Given the description of an element on the screen output the (x, y) to click on. 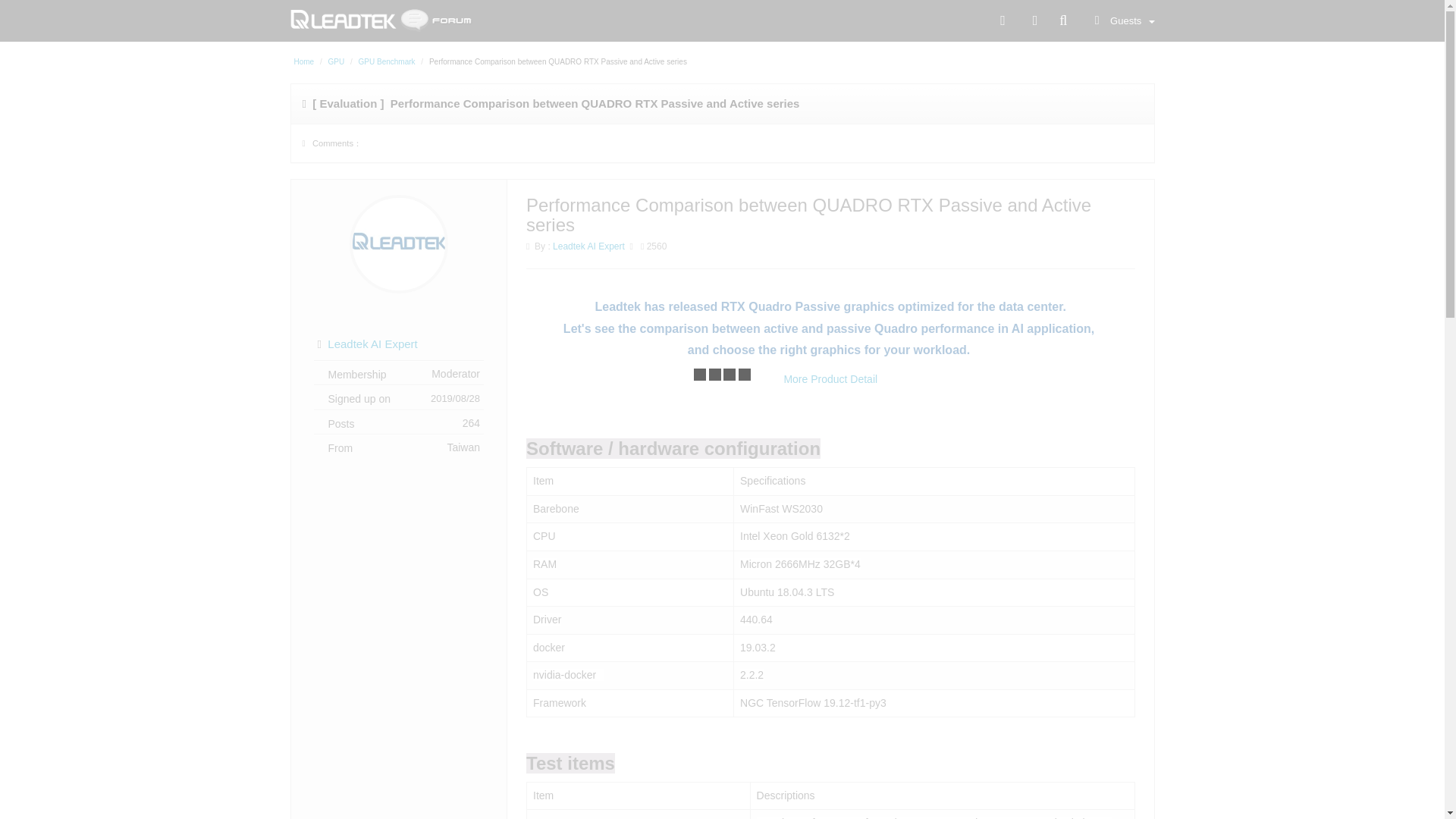
Twitter (1035, 20)
GPU (337, 61)
Leadtek AI Expert (371, 343)
Search (1063, 20)
Facebook (1005, 20)
 Guests   (1121, 20)
Home (304, 61)
Leadtek AI Expert (588, 245)
More Product Detail (830, 378)
GPU Benchmark (386, 61)
